Given the description of an element on the screen output the (x, y) to click on. 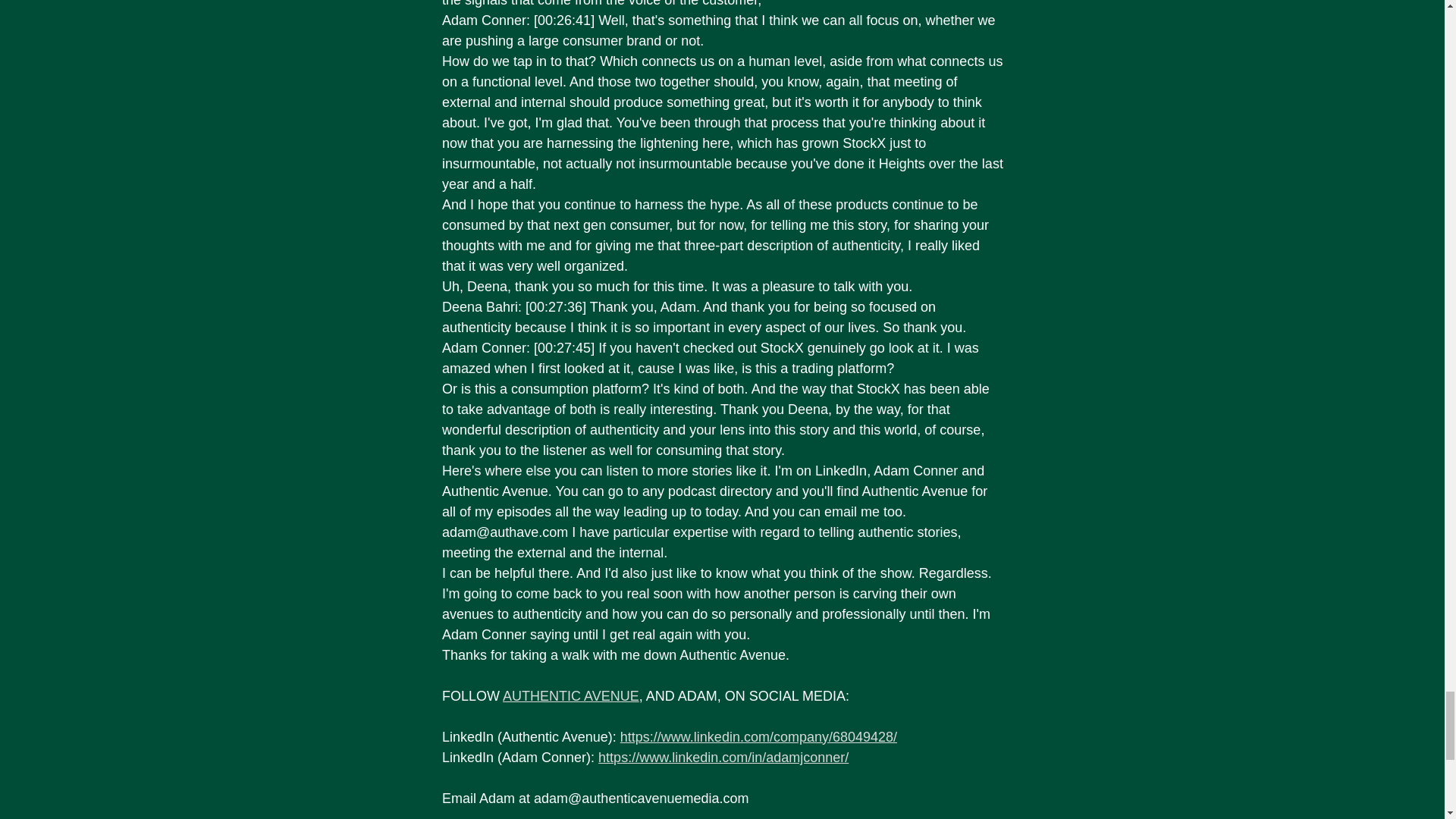
AUTHENTIC AVENUE (570, 695)
